Given the description of an element on the screen output the (x, y) to click on. 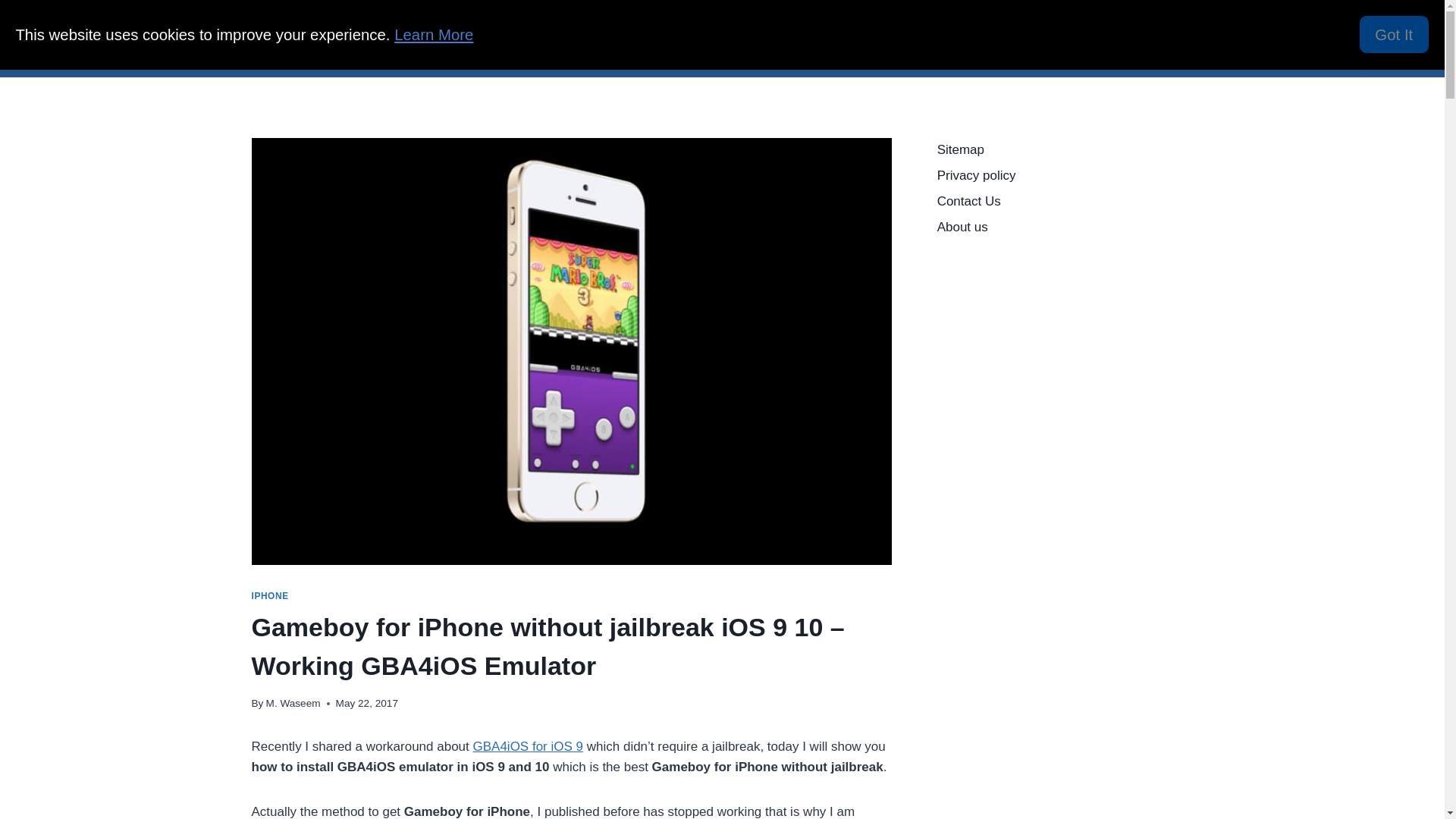
Learn More (433, 34)
GBA4iOS for iOS 9 (528, 746)
Reviews (1059, 38)
Downloads (825, 38)
M. Waseem (293, 703)
Got It (1393, 34)
Learn More (433, 34)
iPhone (892, 38)
Amazing facts (676, 38)
Tips and Tricks (1141, 38)
